Given the description of an element on the screen output the (x, y) to click on. 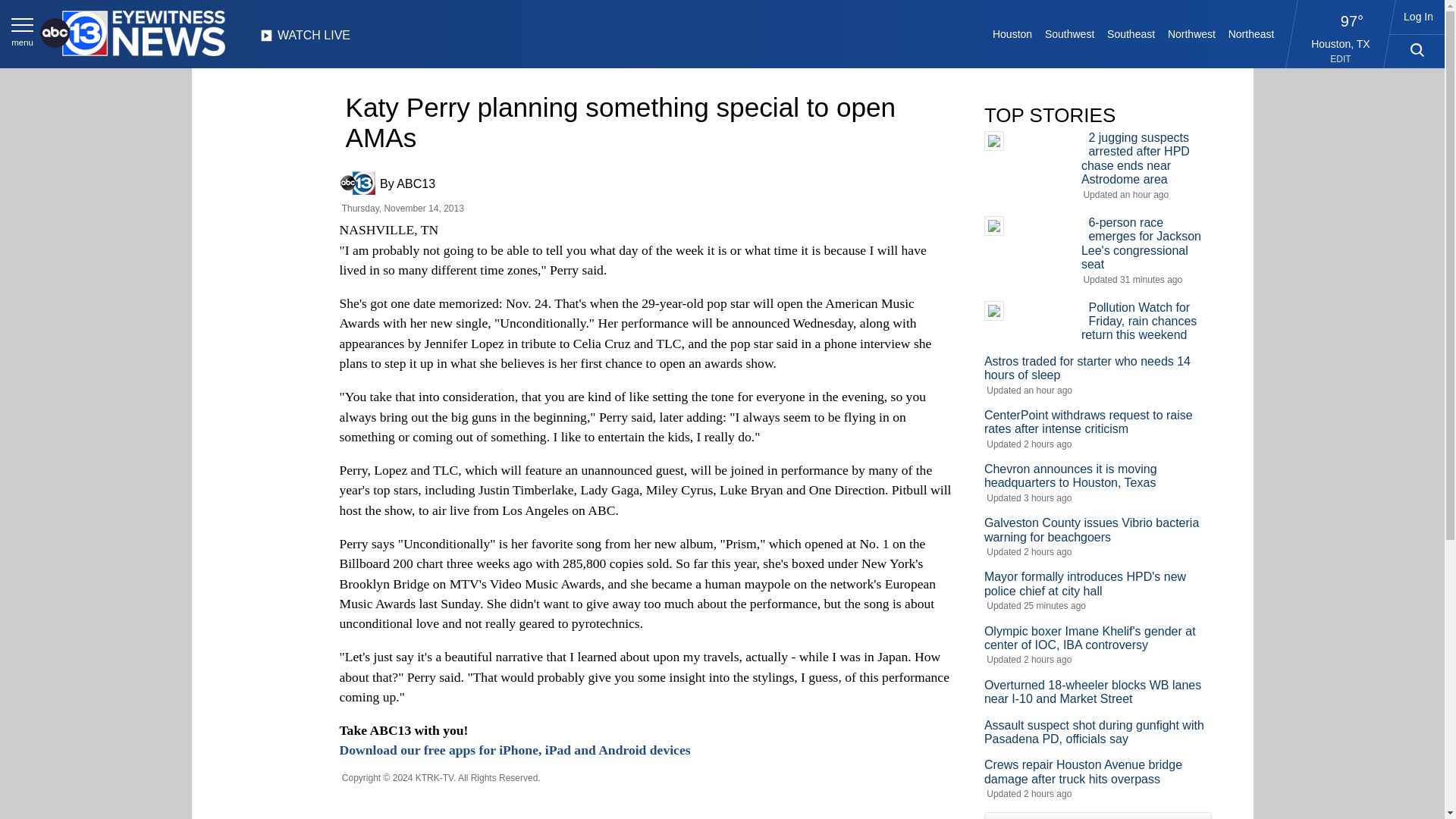
Northeast (1250, 33)
Houston (1013, 33)
WATCH LIVE (305, 39)
Northwest (1192, 33)
Southeast (1130, 33)
Southwest (1069, 33)
Houston, TX (1340, 43)
EDIT (1340, 59)
